Given the description of an element on the screen output the (x, y) to click on. 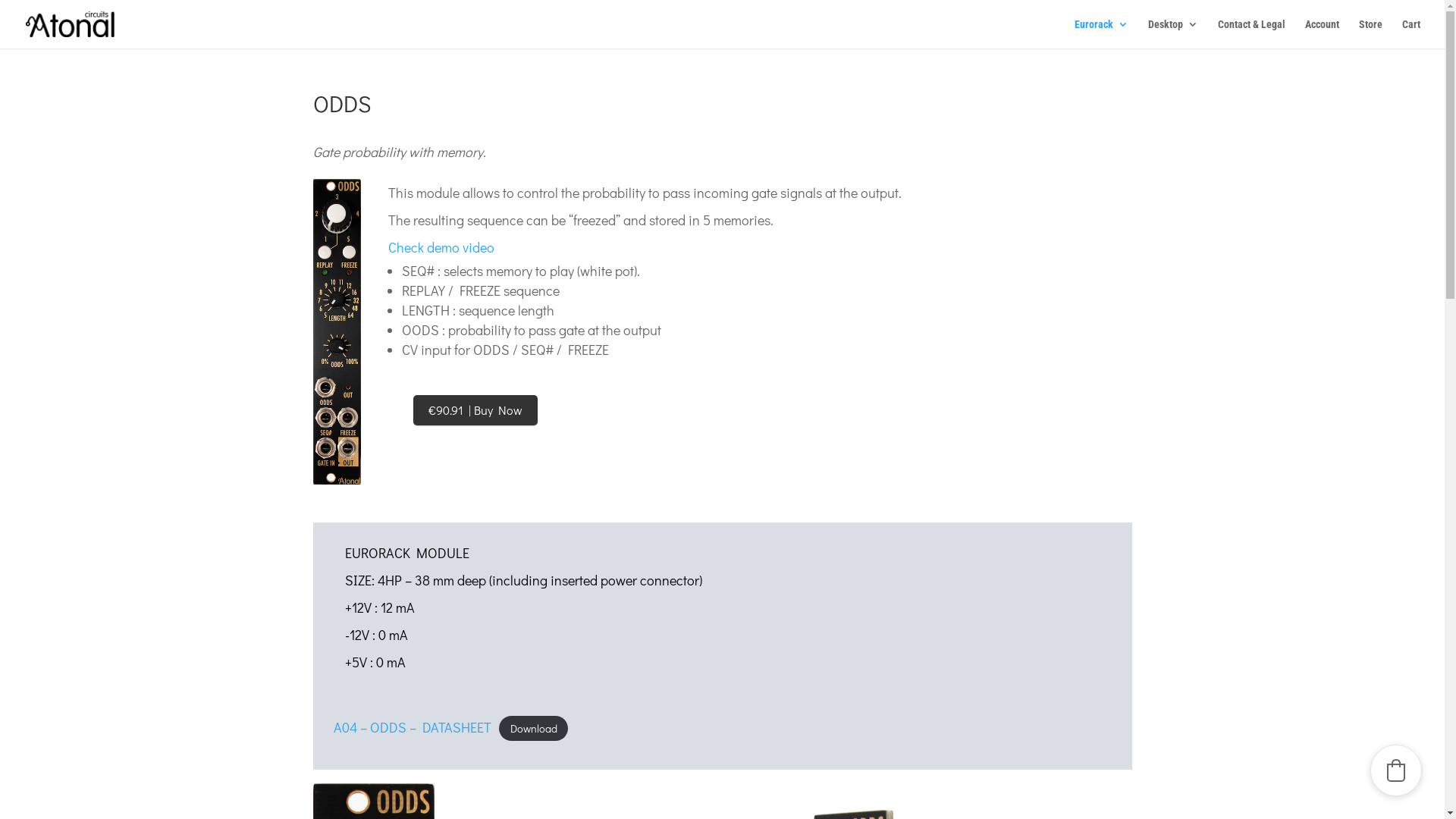
Account Element type: text (1322, 33)
Check demo video Element type: text (441, 247)
Contact & Legal Element type: text (1251, 33)
Download Element type: text (532, 727)
Eurorack Element type: text (1101, 33)
Cart Element type: text (1411, 33)
Store Element type: text (1370, 33)
Desktop Element type: text (1173, 33)
